Given the description of an element on the screen output the (x, y) to click on. 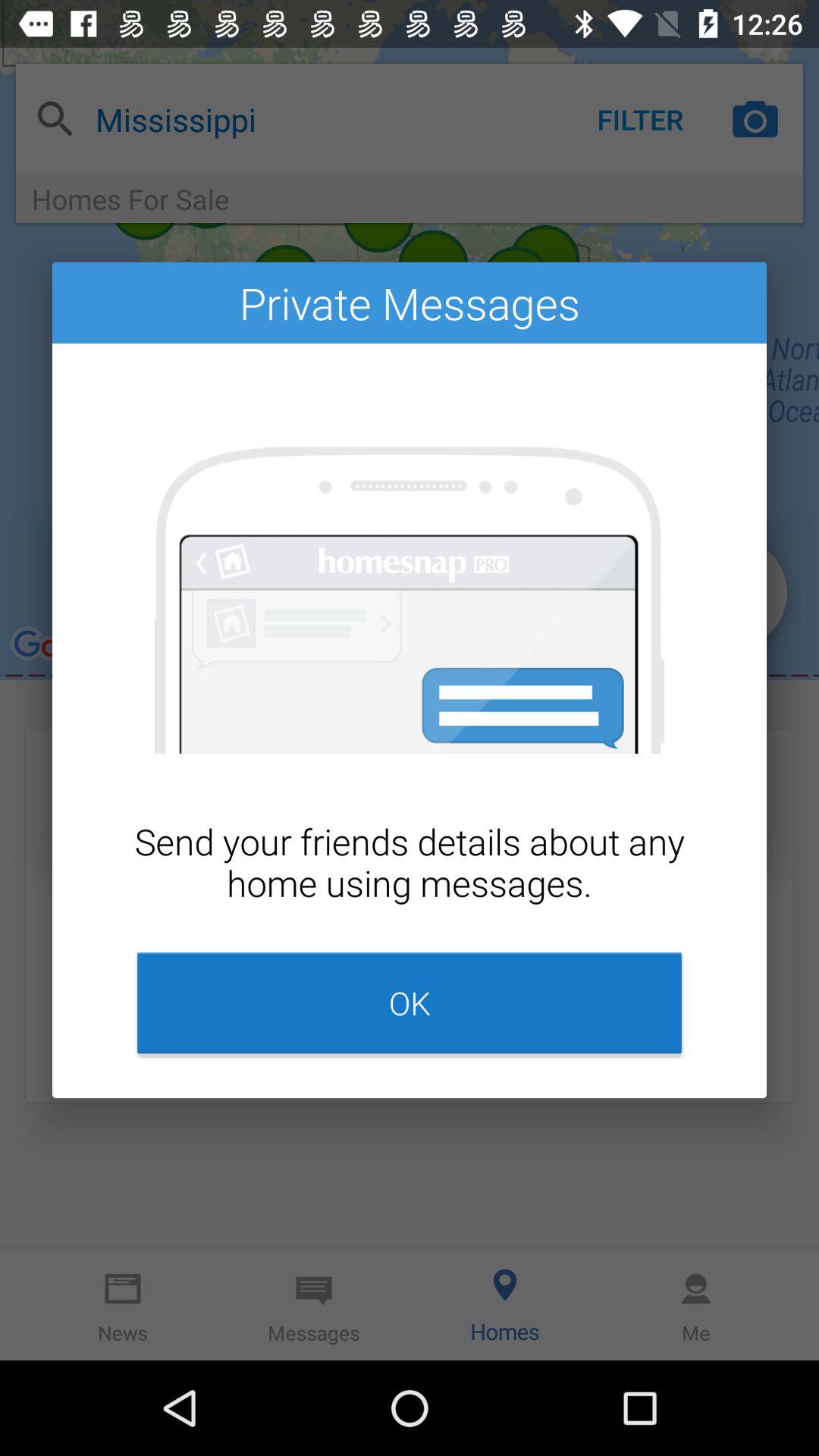
turn on ok icon (409, 1002)
